Given the description of an element on the screen output the (x, y) to click on. 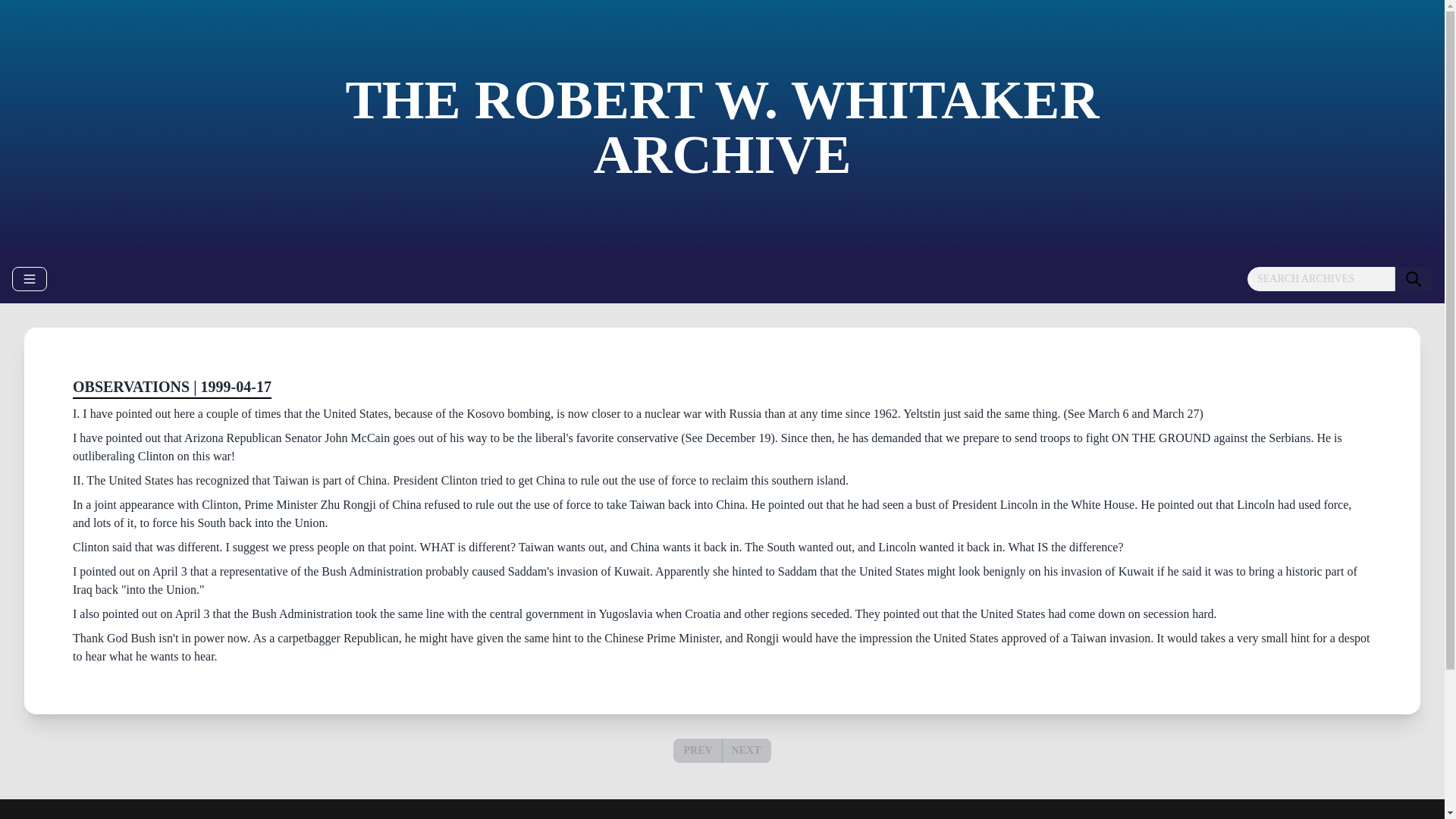
NEXT (746, 749)
THE ROBERT W. WHITAKER ARCHIVE (721, 126)
PREV (697, 750)
NEXT (746, 750)
PREV (696, 749)
